Given the description of an element on the screen output the (x, y) to click on. 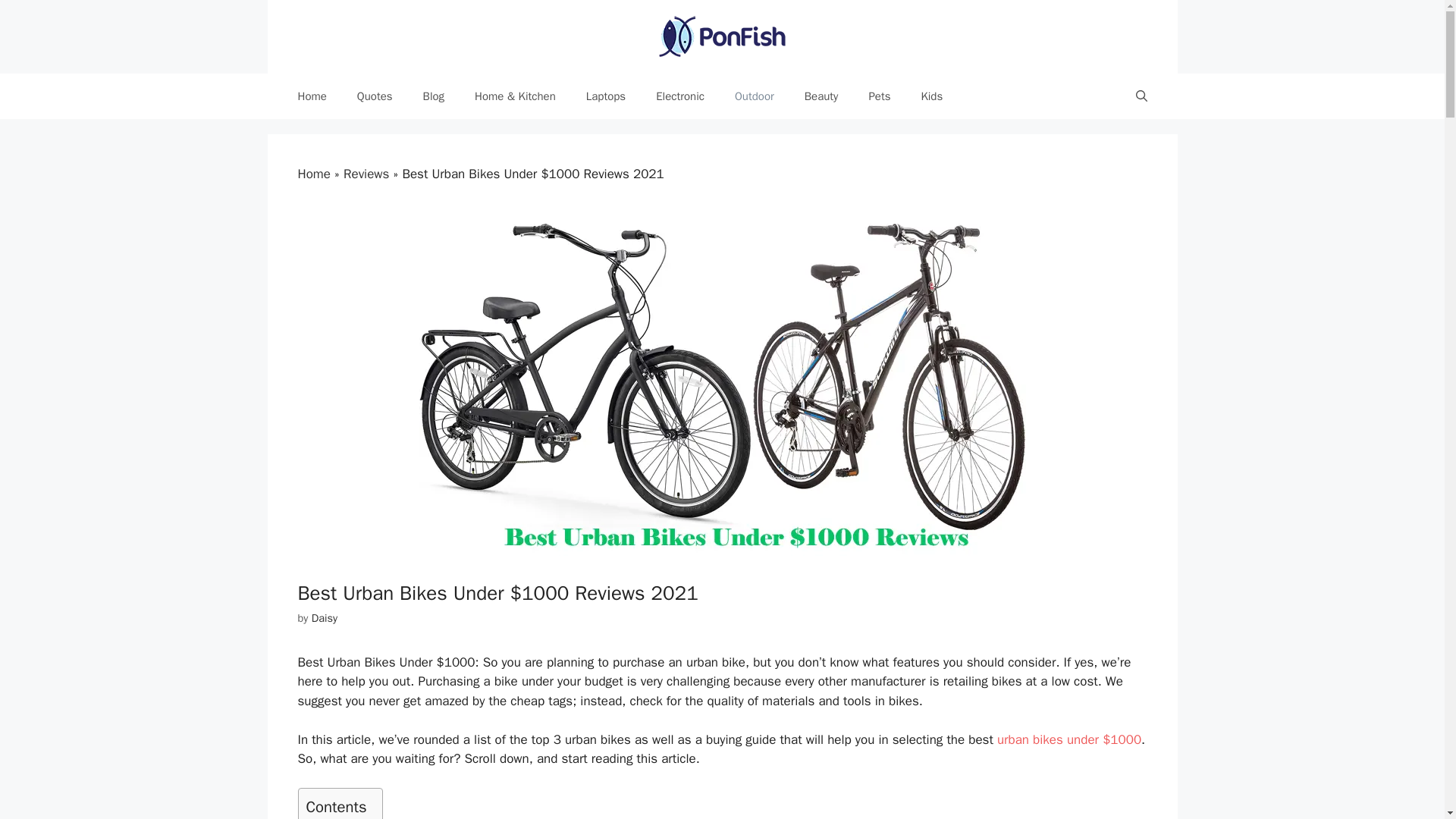
Daisy (324, 617)
Pets (879, 95)
Reviews (365, 173)
Home (311, 95)
Quotes (374, 95)
Laptops (605, 95)
View all posts by Daisy (324, 617)
Outdoor (754, 95)
Beauty (821, 95)
Electronic (679, 95)
Blog (433, 95)
Kids (931, 95)
Home (313, 173)
